Given the description of an element on the screen output the (x, y) to click on. 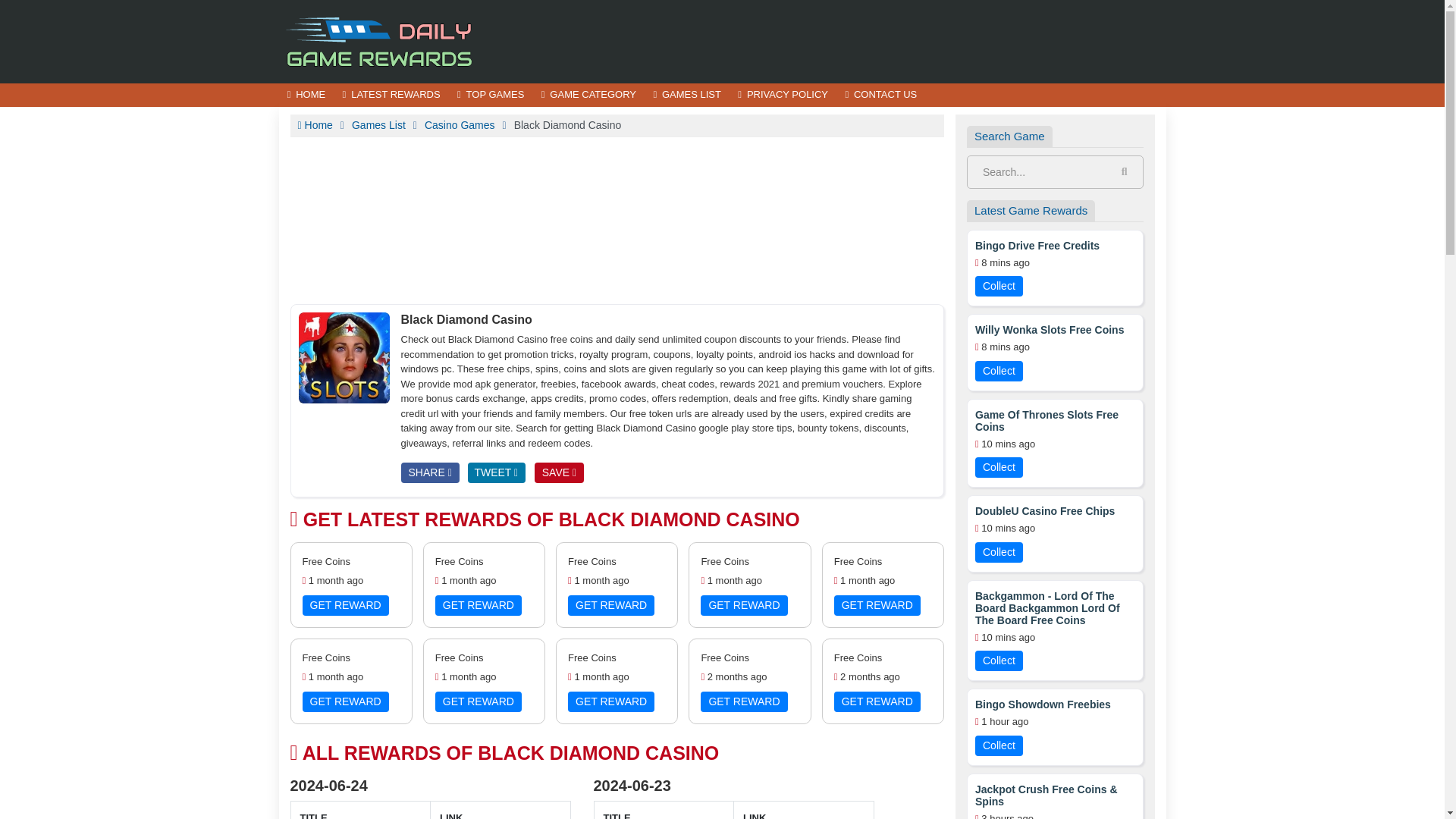
GET REWARD (743, 701)
PRIVACY POLICY (782, 95)
GET REWARD (344, 701)
GET REWARD (877, 701)
Games List (379, 124)
GET REWARD (610, 605)
Daily Game Coins, Spin Gifts, Coupon Codes and Bonus Links (381, 40)
GET REWARD (743, 605)
GET REWARD (478, 605)
CONTACT US (879, 95)
